Given the description of an element on the screen output the (x, y) to click on. 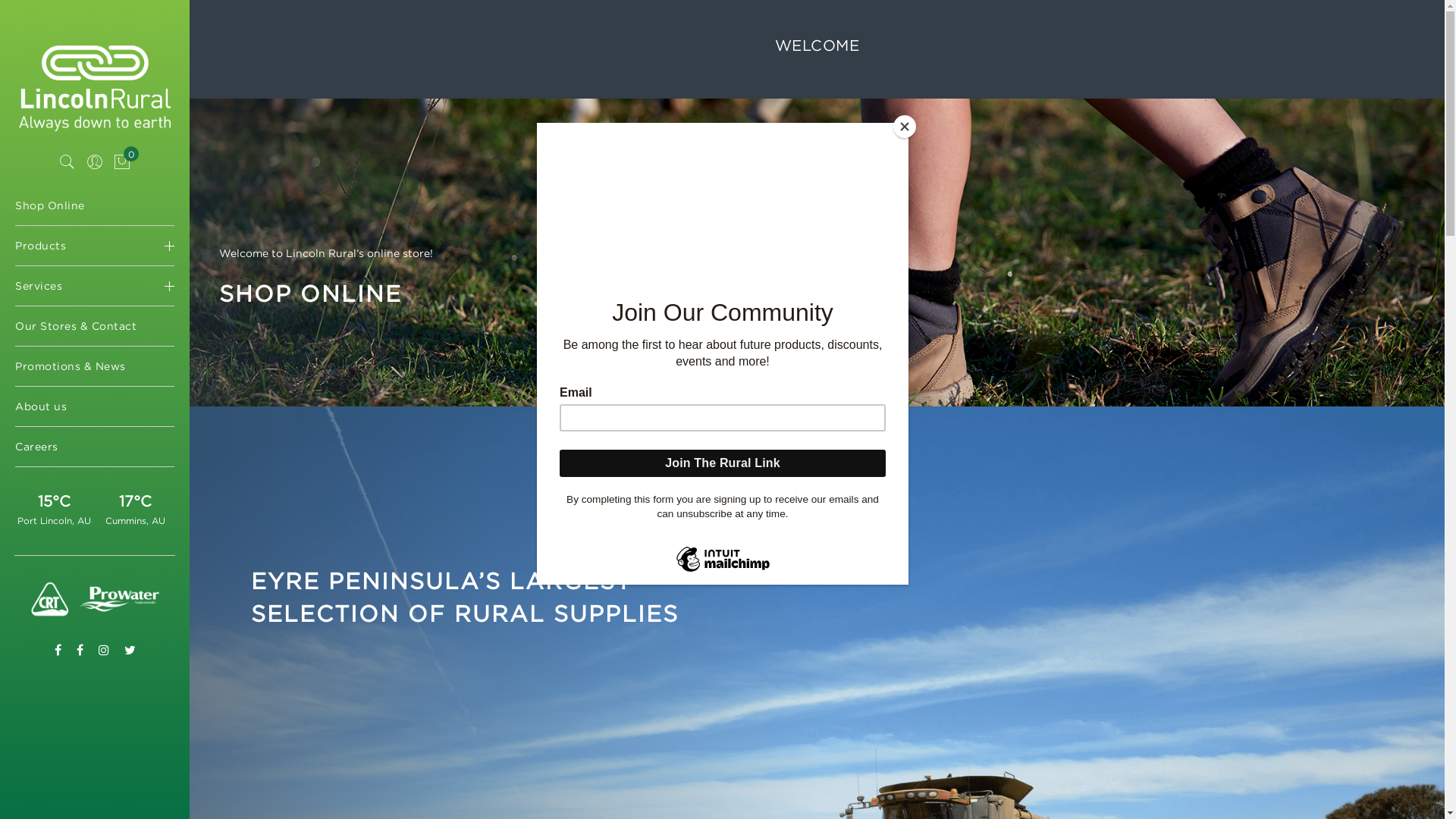
Promotions & News Element type: text (94, 365)
0 Element type: text (121, 162)
Products Element type: text (94, 245)
Services Element type: text (94, 285)
Our Stores & Contact Element type: text (94, 325)
Shop Online Element type: text (94, 205)
SHOP ONLINE Element type: text (310, 292)
About us Element type: text (94, 406)
Careers Element type: text (94, 446)
Search Element type: hover (67, 162)
